Given the description of an element on the screen output the (x, y) to click on. 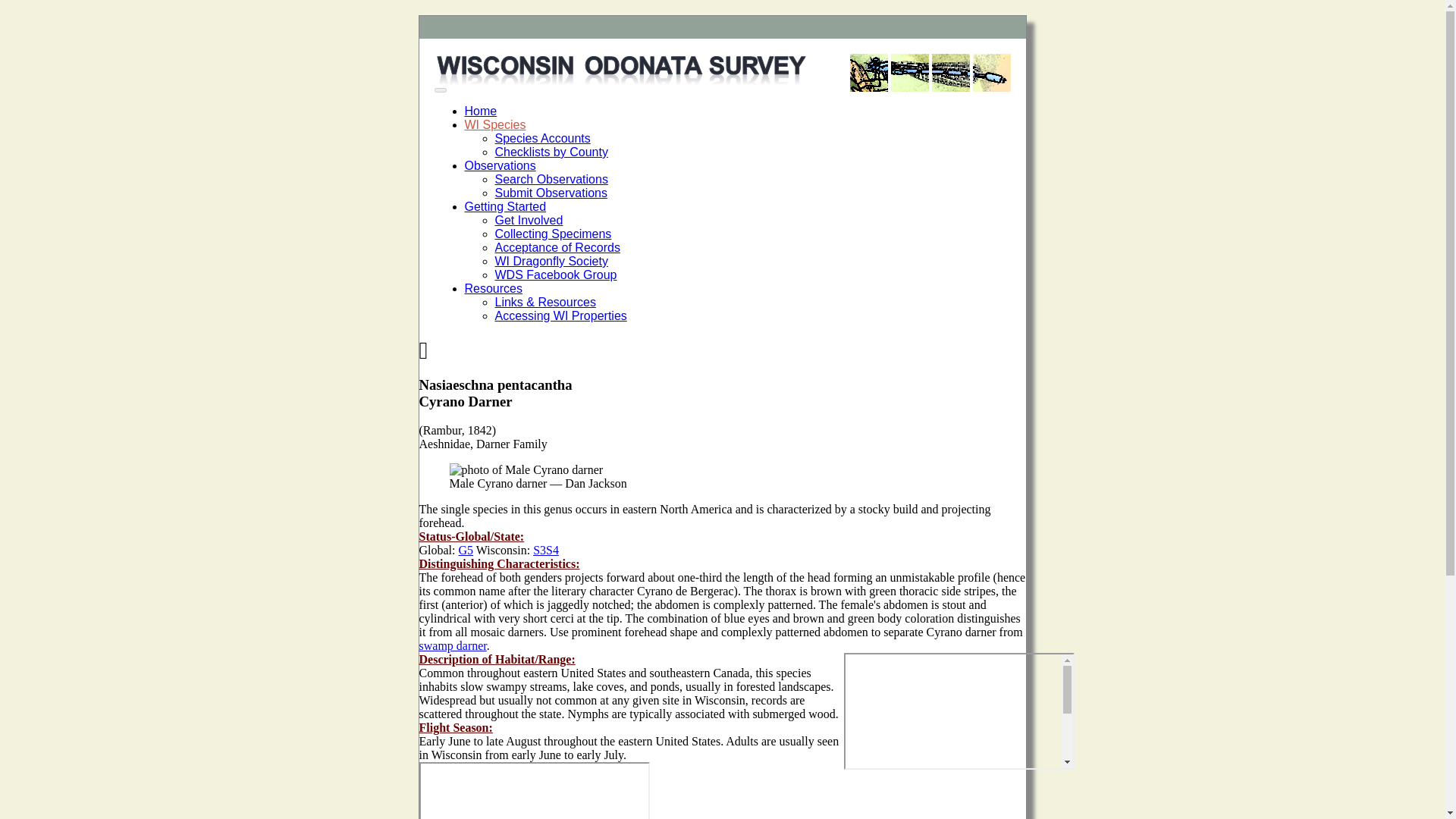
Submit Observations (551, 192)
G5 (465, 549)
Collecting Specimens (553, 233)
S3S4 (545, 549)
Search Observations (551, 178)
WDS Facebook Group (555, 274)
Get Involved (528, 219)
Getting Started (505, 205)
WI Dragonfly Society (551, 260)
Home (480, 110)
WI Species (494, 124)
swamp darner (452, 645)
Checklists by County (551, 151)
Accessing WI Properties (560, 315)
Resources (492, 287)
